Given the description of an element on the screen output the (x, y) to click on. 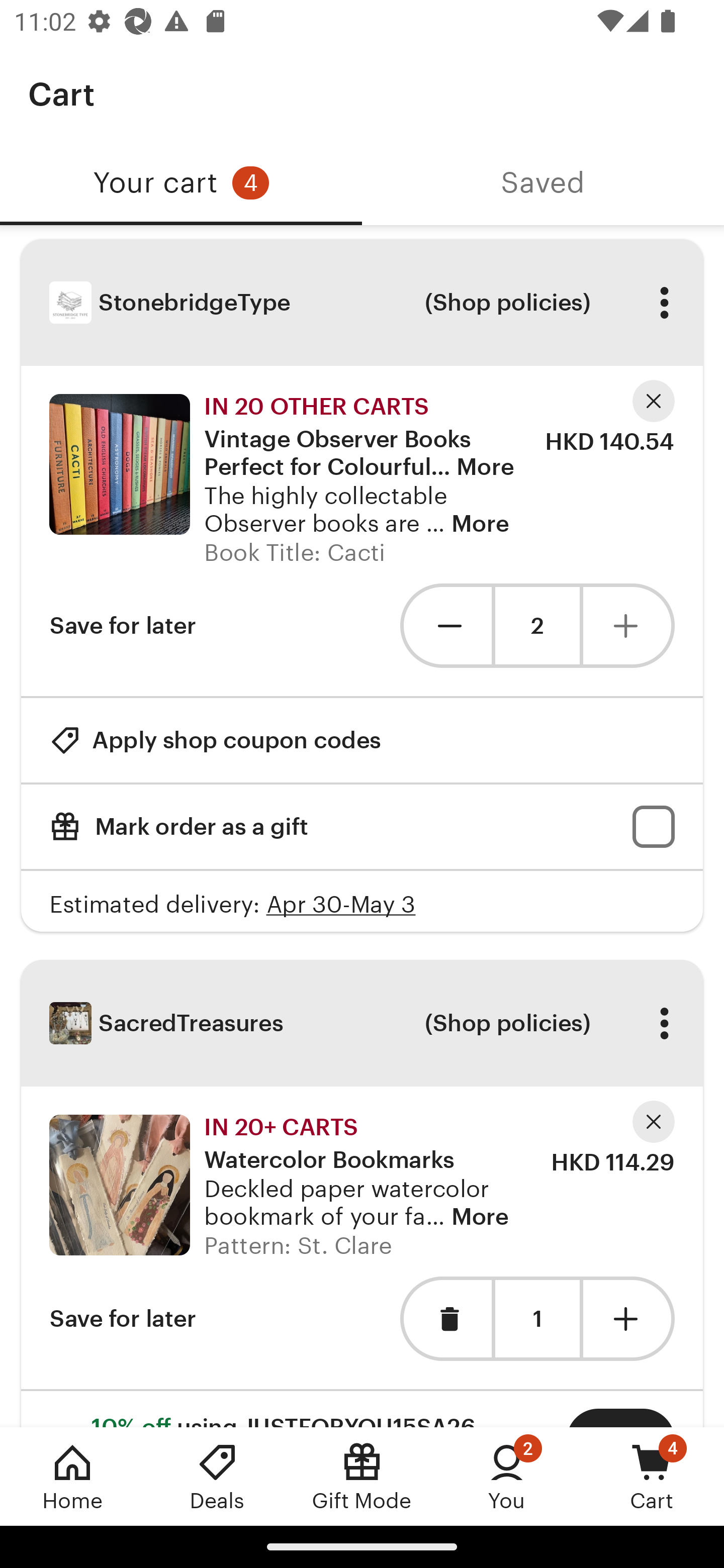
Saved, tab 2 of 2 Saved (543, 183)
StonebridgeType (Shop policies) More options (361, 302)
(Shop policies) (507, 302)
More options (663, 302)
Save for later (122, 625)
Remove one unit from cart (445, 625)
Add one unit to cart (628, 625)
2 (537, 625)
Apply shop coupon codes (215, 739)
Mark order as a gift (361, 826)
SacredTreasures (Shop policies) More options (361, 1022)
(Shop policies) (507, 1022)
More options (663, 1022)
Watercolor Bookmarks (119, 1184)
Watercolor Bookmarks (329, 1146)
Save for later (122, 1318)
Remove item from cart (445, 1318)
Add one unit to cart (628, 1318)
1 (537, 1318)
Home (72, 1475)
Deals (216, 1475)
Gift Mode (361, 1475)
You, 2 new notifications You (506, 1475)
